Given the description of an element on the screen output the (x, y) to click on. 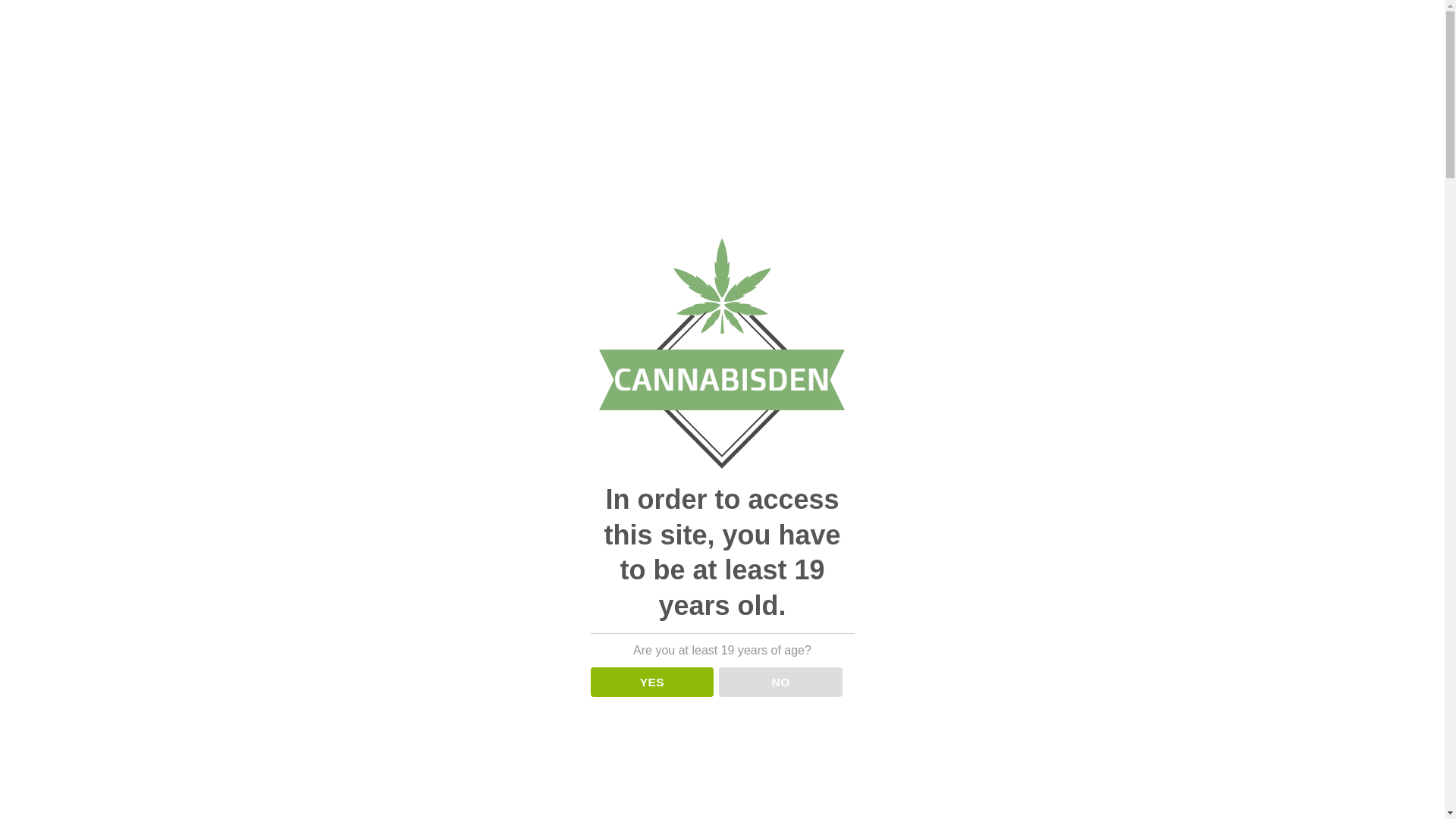
Concentrates Element type: text (253, 750)
Follow on Instagram Element type: hover (1405, 18)
FLOWERS Element type: text (304, 75)
CBD Element type: text (253, 618)
Contact Us Element type: text (1364, 18)
SALE Element type: text (174, 75)
MUSHROOMS Element type: text (703, 75)
EDIBLES Element type: text (370, 75)
Edibles Element type: text (253, 779)
Bulk Element type: text (261, 588)
CBD Element type: text (195, 432)
Reviews Element type: text (1264, 18)
LOGIN / REGISTER Element type: text (1244, 75)
How To Order Element type: text (1113, 18)
CONCENTRATES Element type: text (453, 75)
CART / $0.00 Element type: text (1373, 75)
NO Element type: text (780, 681)
Accessories Element type: text (261, 559)
VAPES Element type: text (531, 75)
CBD Element type: text (638, 75)
BLOG Element type: text (767, 75)
Refer a Friend Element type: text (1196, 18)
Capsules Element type: text (156, 643)
HOME Element type: text (140, 432)
Send us an email Element type: hover (1419, 18)
KING CRAFT Element type: text (233, 75)
CBD Edibles Element type: text (166, 665)
YES Element type: text (651, 681)
infused with cannabis oil Element type: text (1117, 483)
Cannabis Den - Mail Order Marijuana Service Element type: hover (56, 75)
Track Your Order Element type: text (1022, 18)
HEALTH Element type: text (588, 75)
cookies to chocolates Element type: text (978, 502)
$99 Oz Element type: text (261, 530)
Tinctures Element type: text (156, 717)
FAQ Element type: text (1312, 18)
Vegan Element type: text (163, 687)
